Given the description of an element on the screen output the (x, y) to click on. 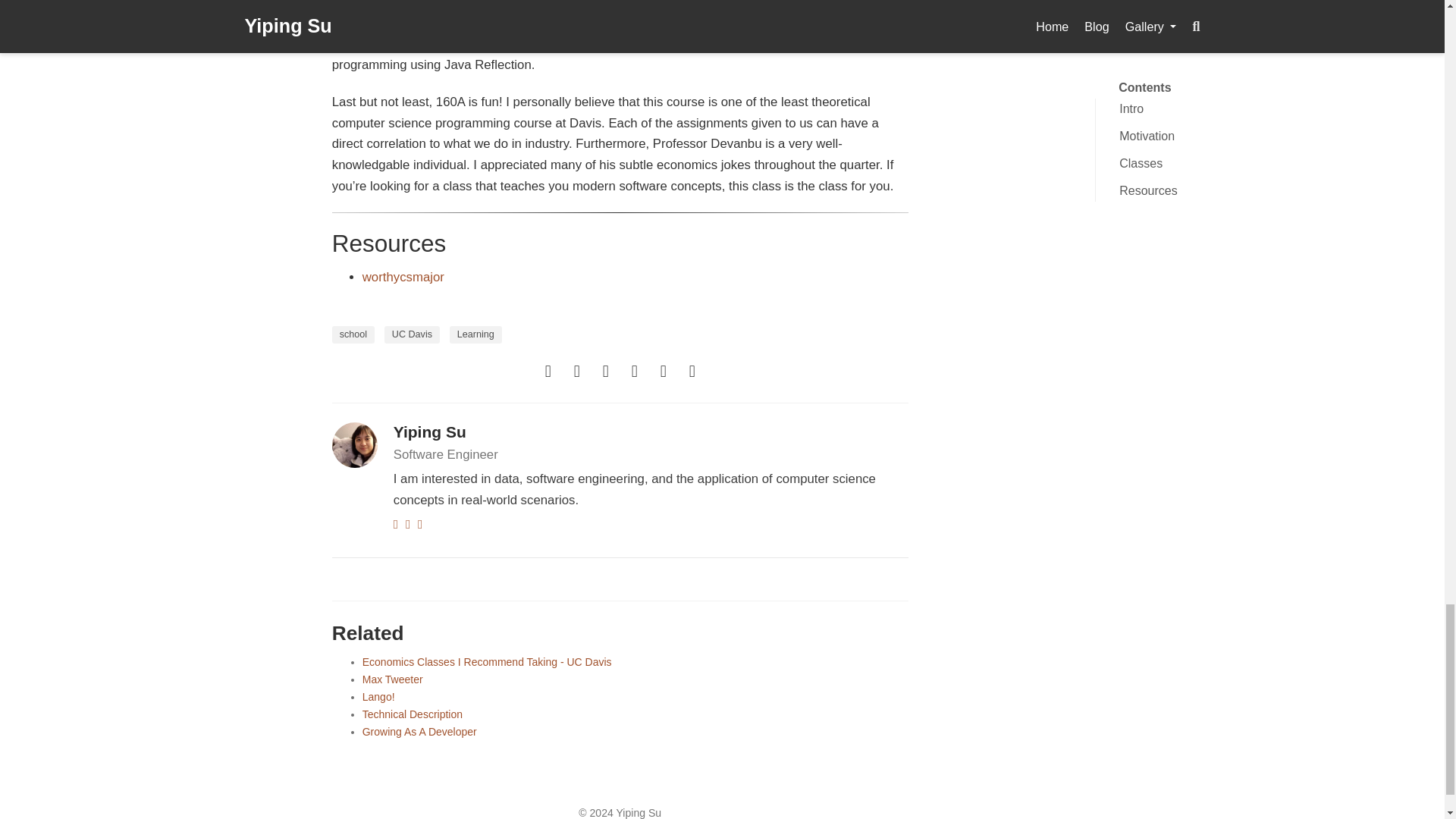
school (352, 334)
Learning (475, 334)
worthycsmajor (403, 277)
Yiping Su (429, 431)
UC Davis (411, 334)
